Given the description of an element on the screen output the (x, y) to click on. 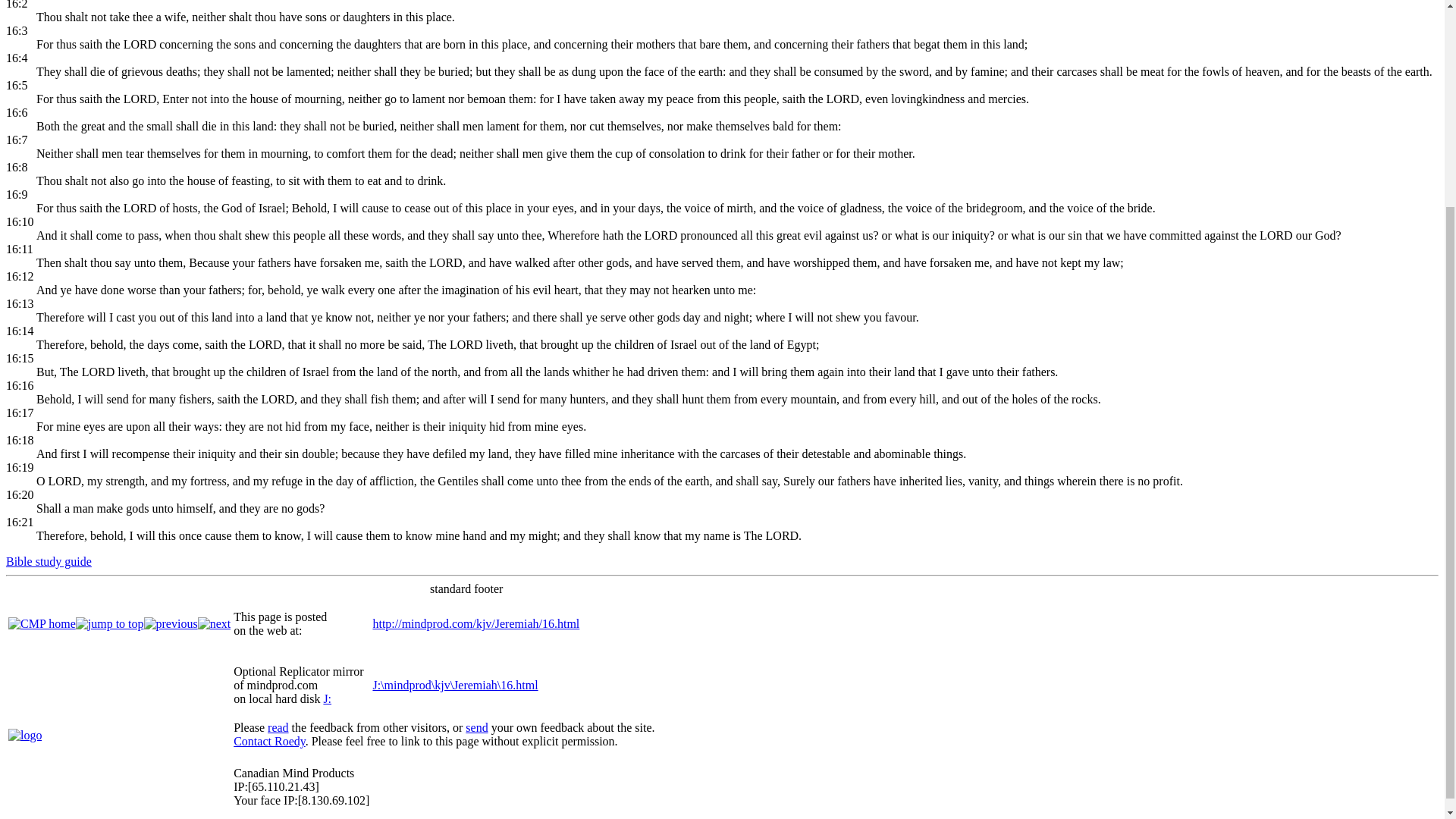
Bible study guide (48, 561)
Contact Roedy (268, 740)
read (277, 727)
send (476, 727)
